Given the description of an element on the screen output the (x, y) to click on. 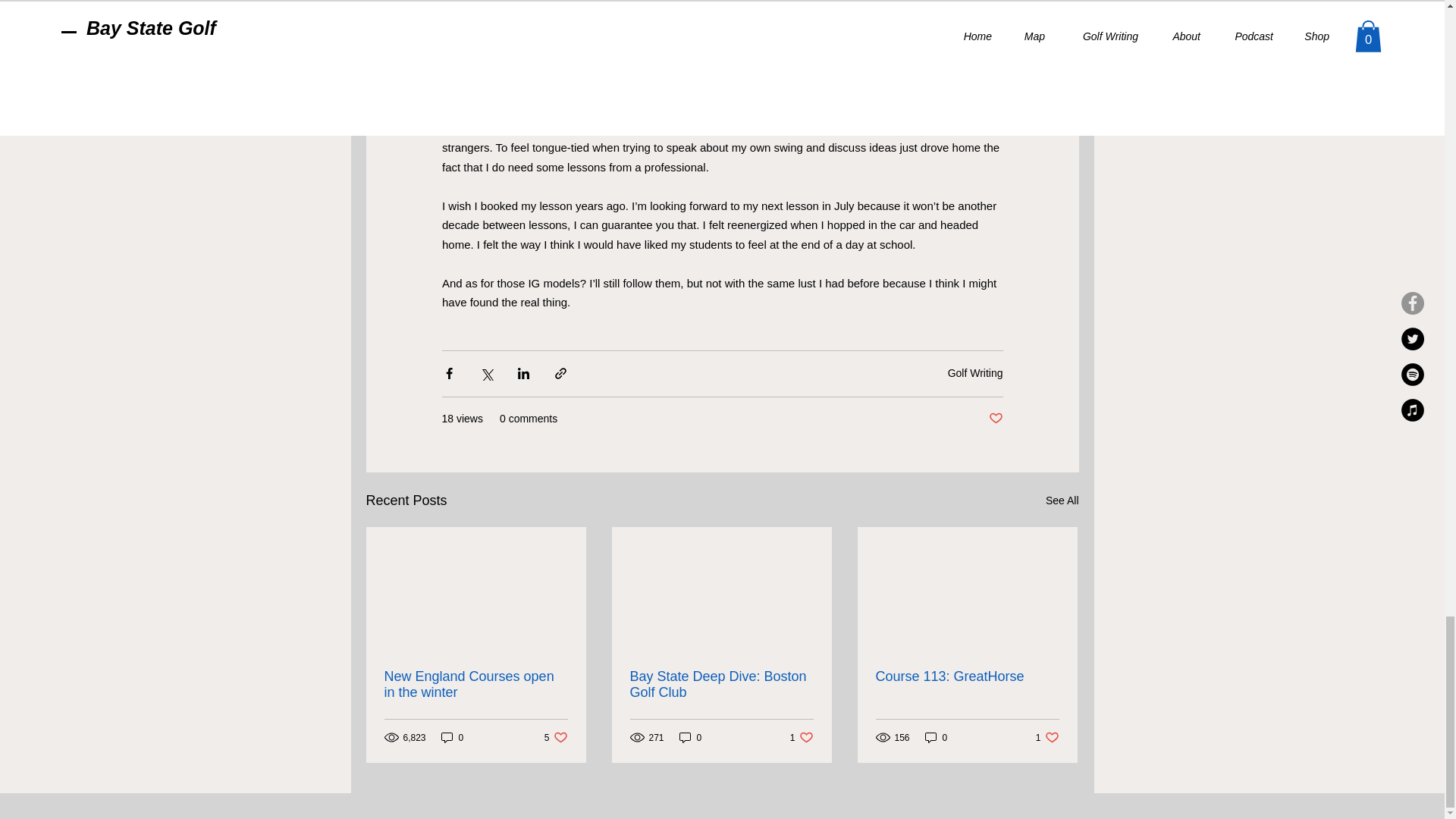
0 (690, 737)
New England Courses open in the winter (475, 685)
Course 113: GreatHorse (966, 676)
0 (452, 737)
Post not marked as liked (995, 418)
Bay State Deep Dive: Boston Golf Club (720, 685)
Golf Writing (555, 737)
See All (975, 372)
0 (1061, 500)
